Given the description of an element on the screen output the (x, y) to click on. 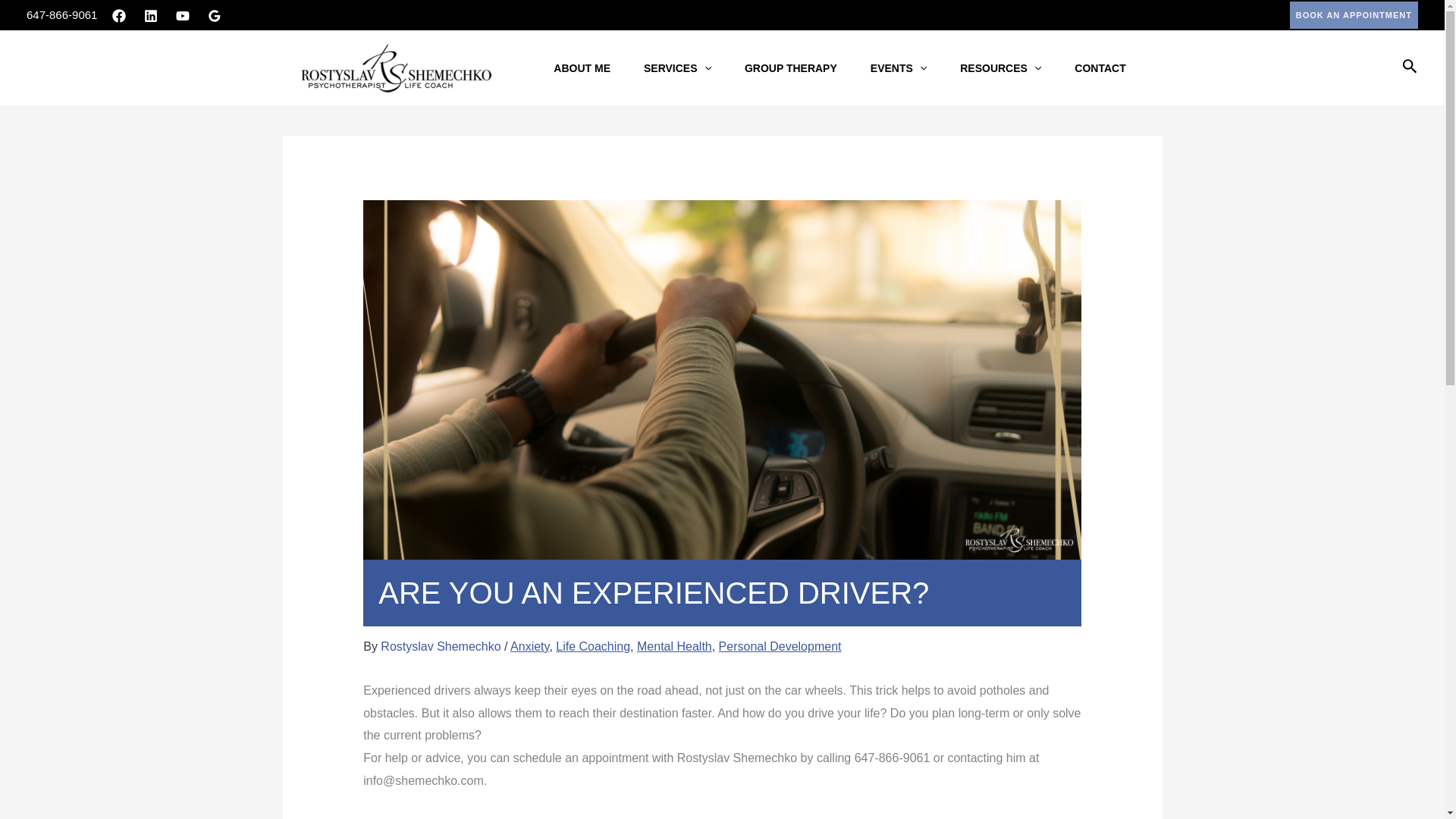
647-866-9061 (61, 14)
ABOUT ME (582, 67)
Rostyslav Shemechko (441, 645)
Anxiety (529, 645)
Life Coaching (593, 645)
BOOK AN APPOINTMENT (1354, 14)
RESOURCES (1000, 67)
Mental Health (674, 645)
Personal Development (780, 645)
EVENTS (898, 67)
